Given the description of an element on the screen output the (x, y) to click on. 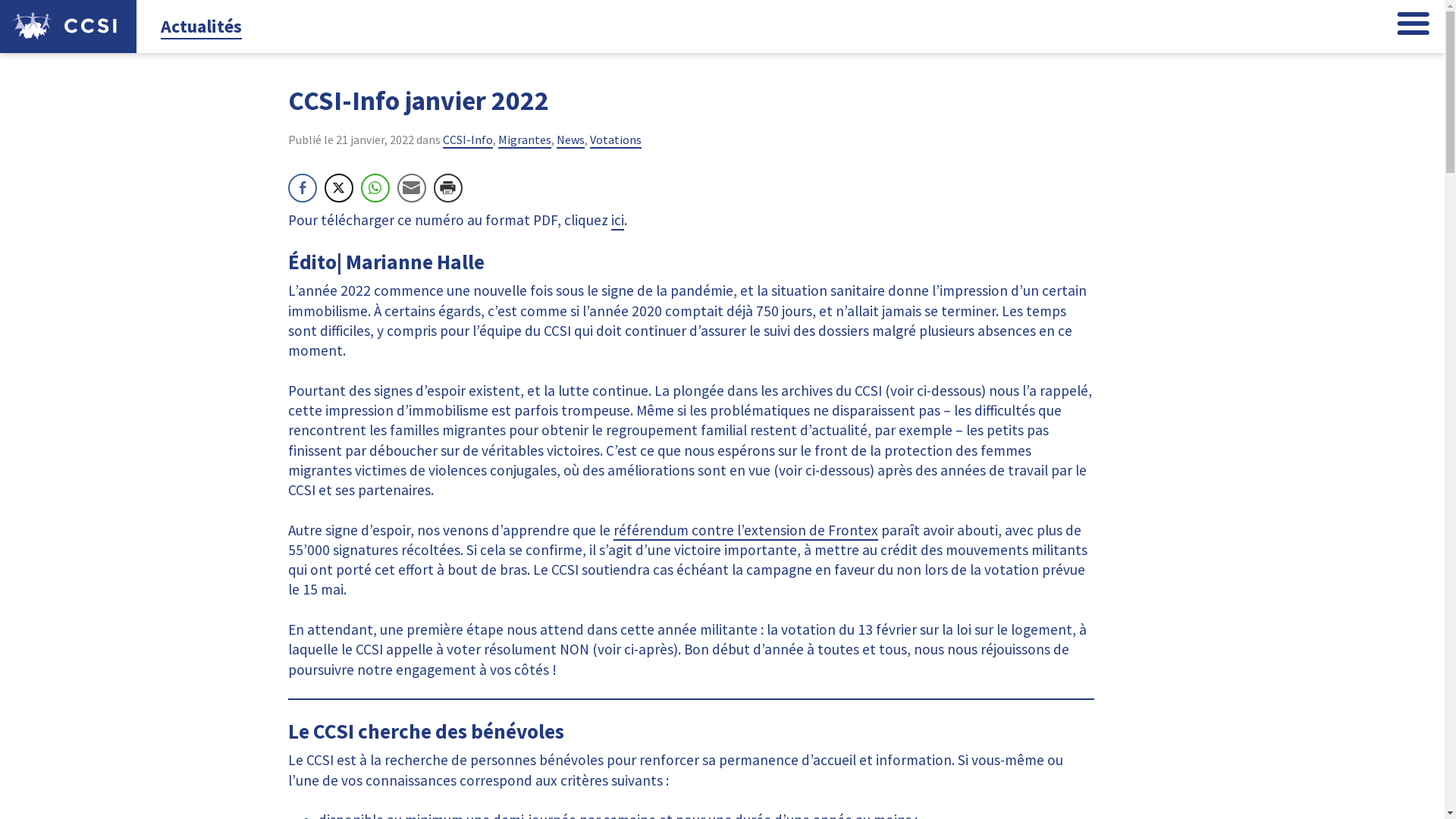
News Element type: text (570, 139)
ici Element type: text (617, 220)
CCSI-Info Element type: text (467, 139)
Migrantes Element type: text (523, 139)
Votations Element type: text (615, 139)
